Given the description of an element on the screen output the (x, y) to click on. 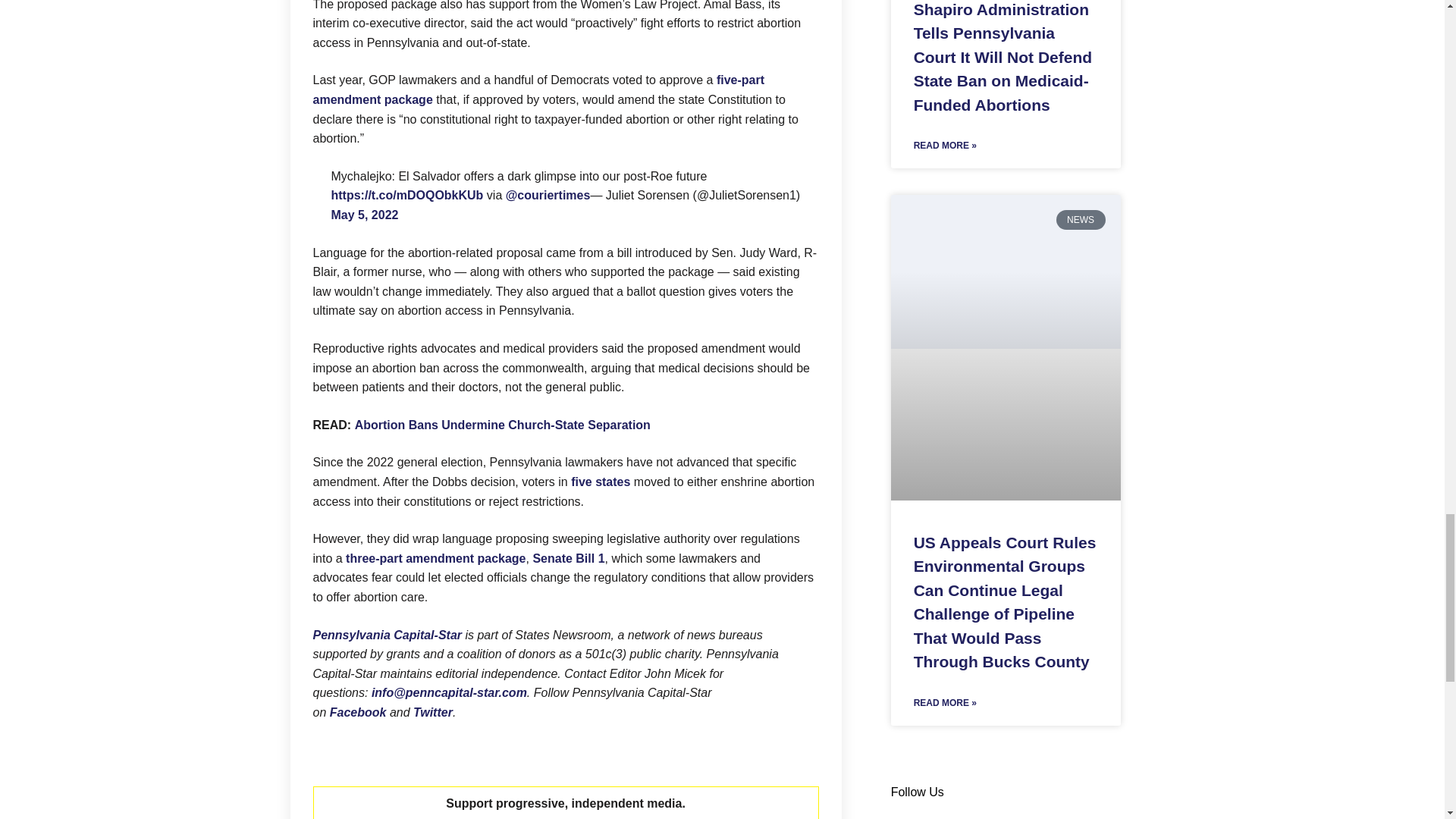
five-part amendment package (538, 89)
May 5, 2022 (363, 214)
